Given the description of an element on the screen output the (x, y) to click on. 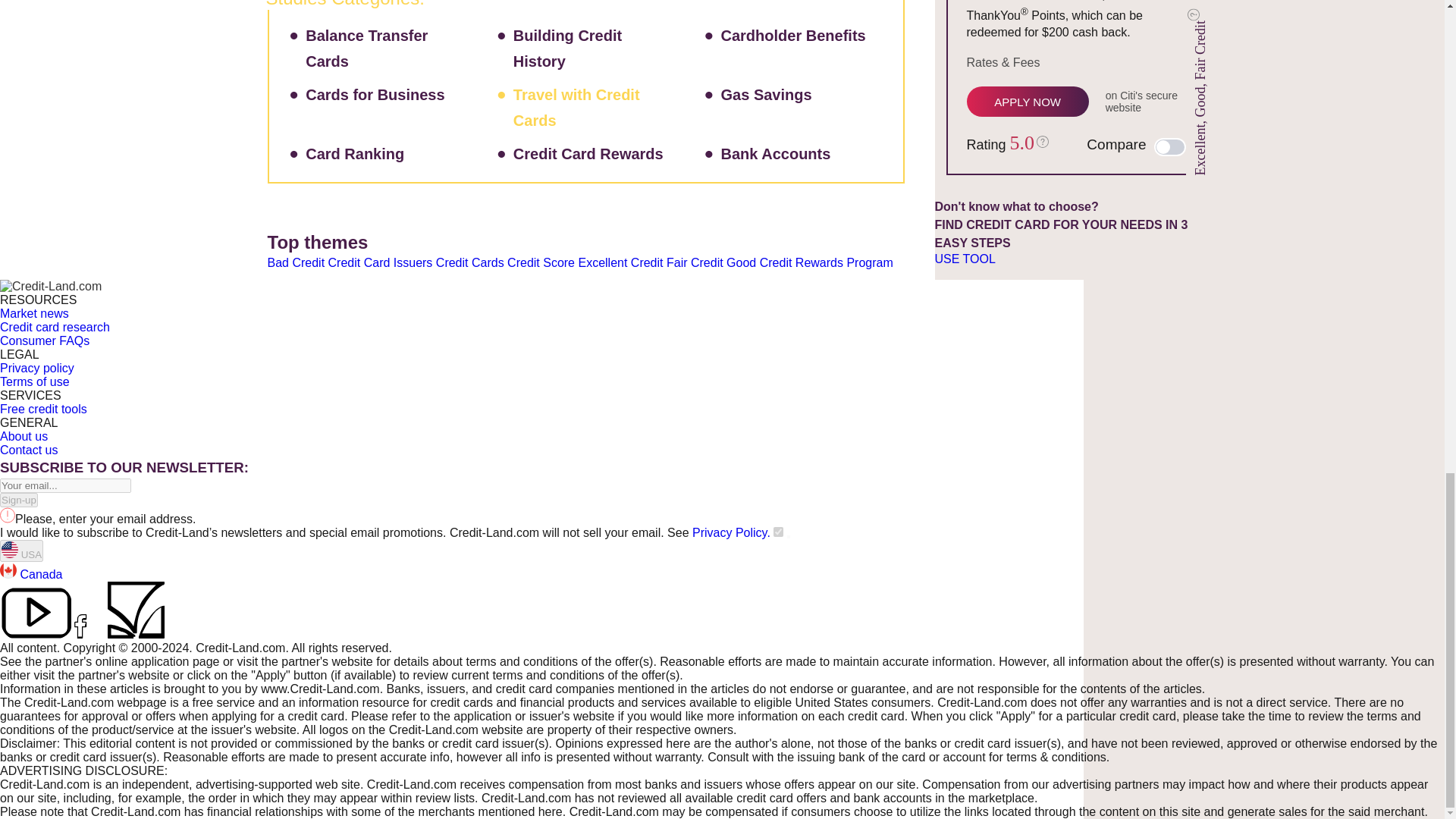
on (778, 532)
